Given the description of an element on the screen output the (x, y) to click on. 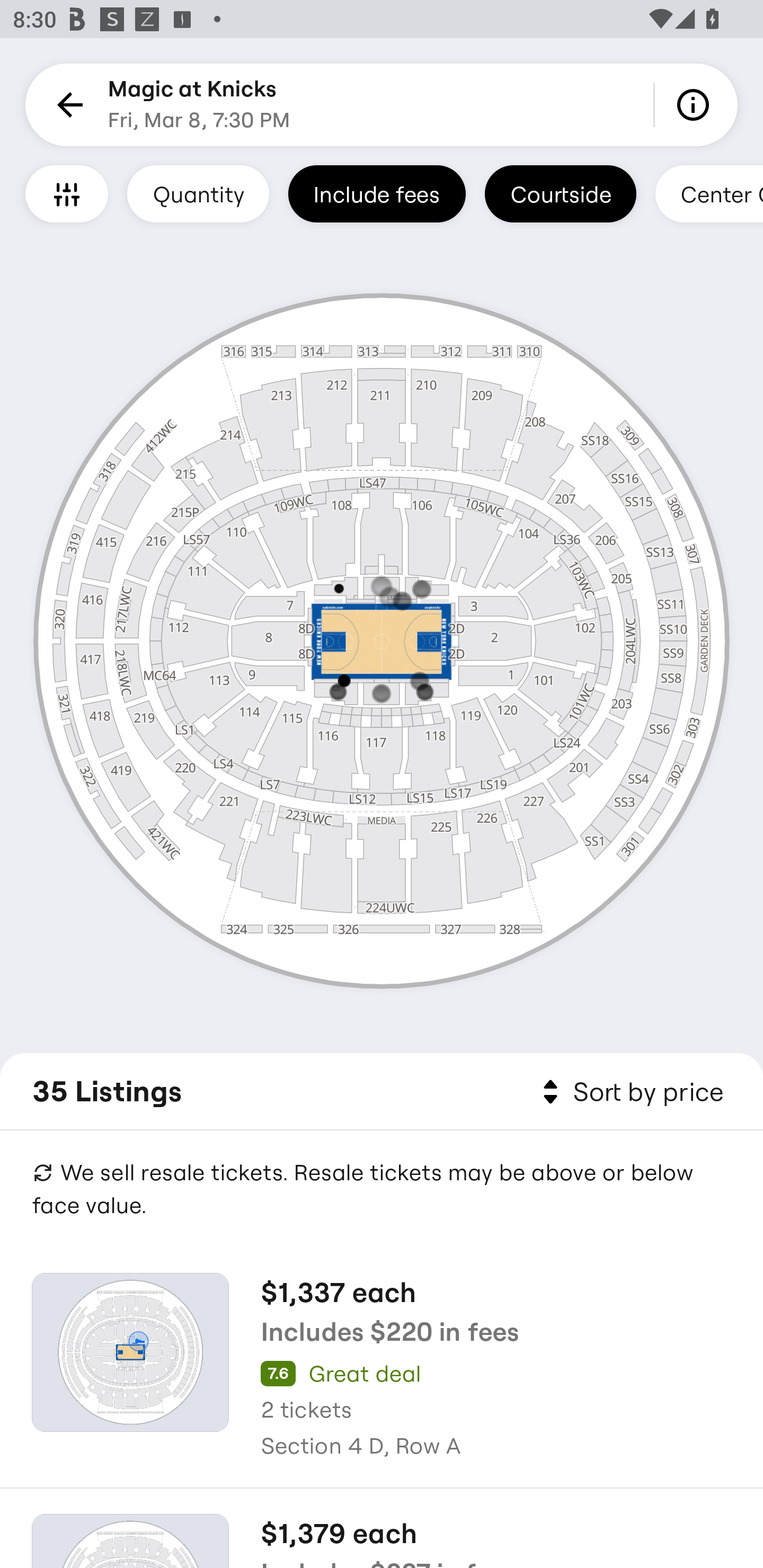
Back (66, 104)
Magic at Knicks Fri, Mar 8, 7:30 PM (198, 104)
Info (695, 104)
Filters and Accessible Seating (66, 193)
Quantity (198, 193)
Include fees (376, 193)
Courtside (560, 193)
Sort by price (629, 1091)
